Given the description of an element on the screen output the (x, y) to click on. 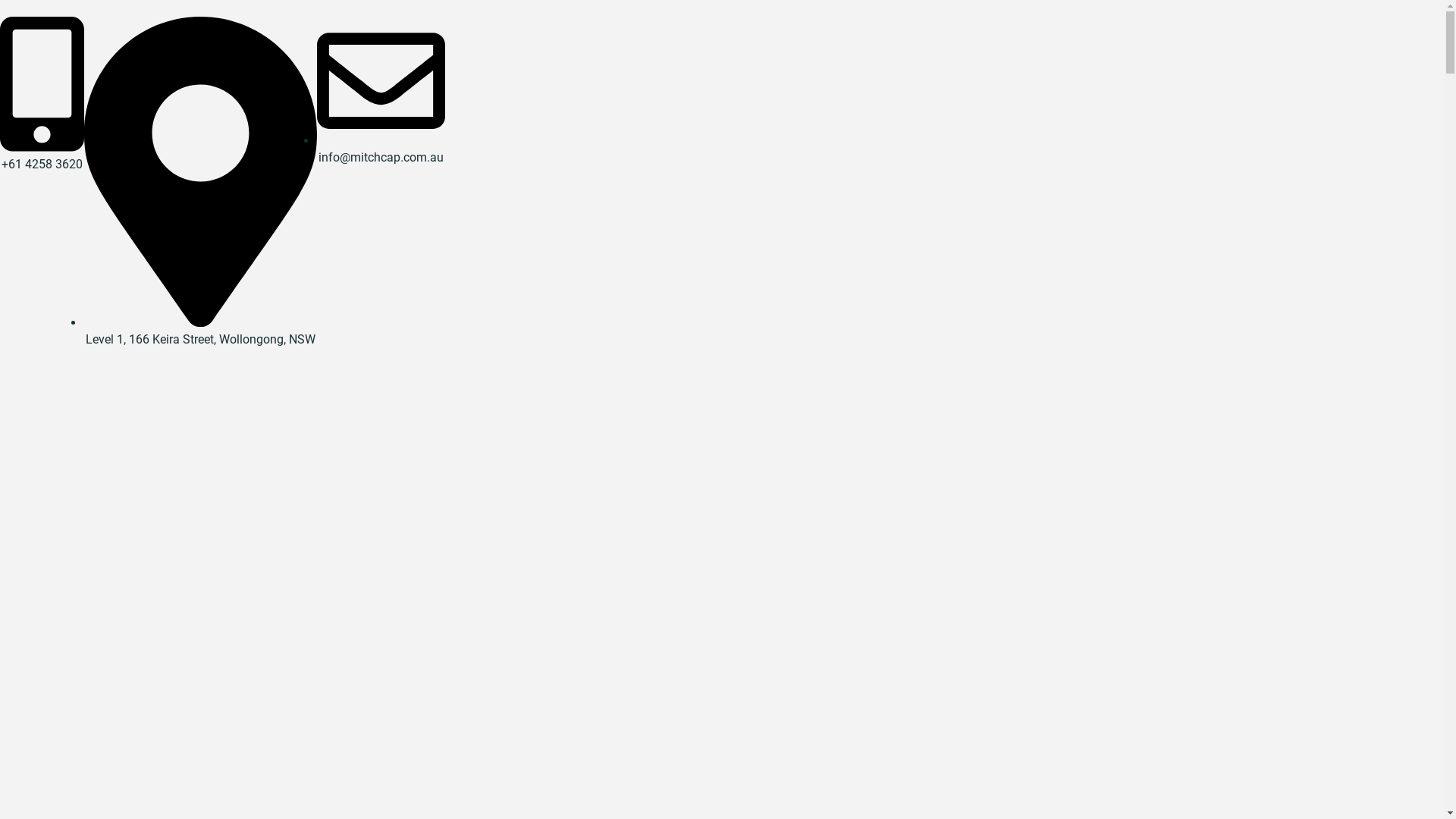
+61 4258 3620 Element type: text (42, 155)
info@mitchcap.com.au Element type: text (380, 148)
